Given the description of an element on the screen output the (x, y) to click on. 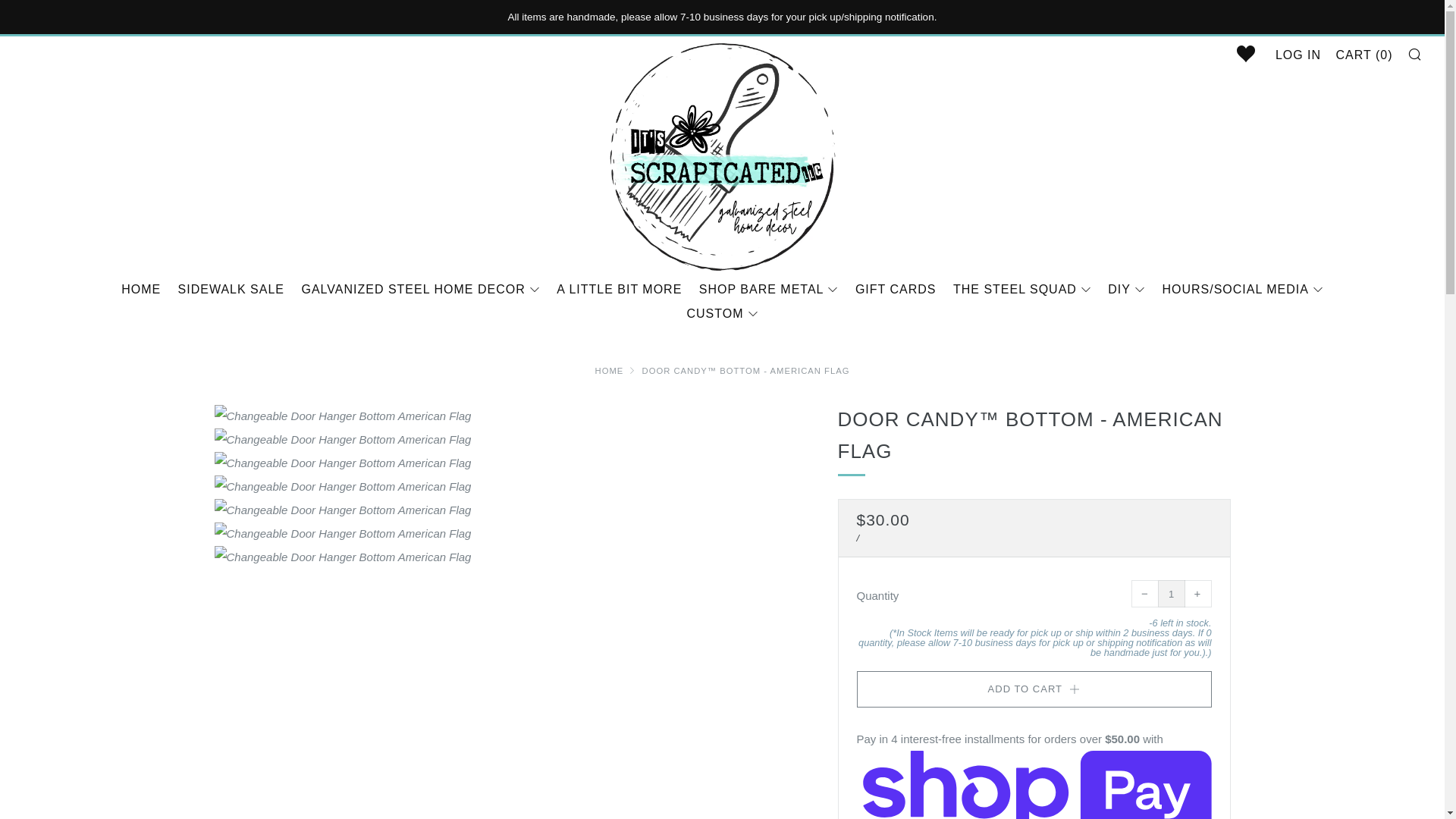
Home (609, 370)
1 (1171, 593)
